Given the description of an element on the screen output the (x, y) to click on. 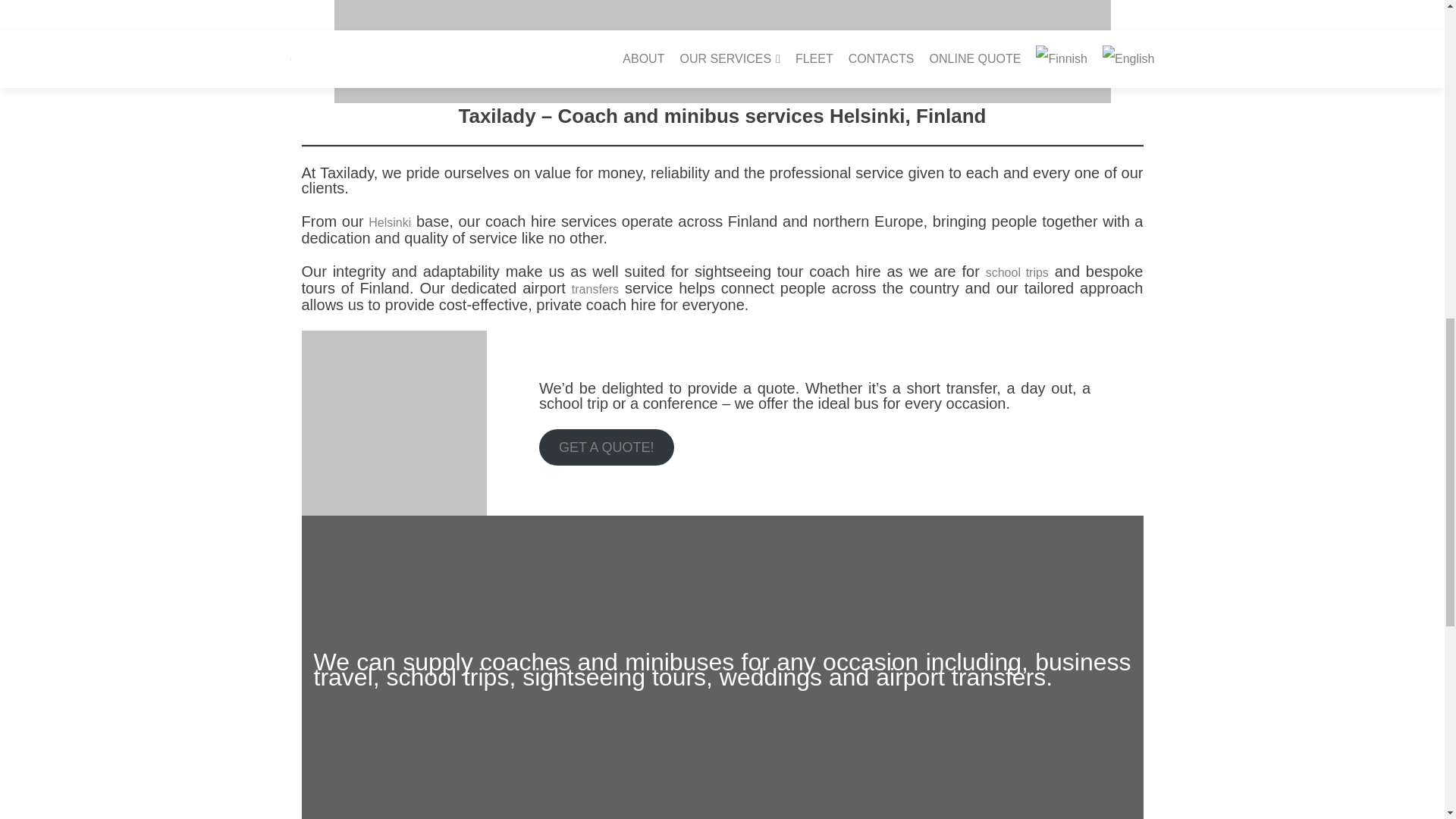
school trips (1016, 272)
GET A QUOTE! (606, 447)
transfers (595, 288)
Helsinki (389, 222)
